Given the description of an element on the screen output the (x, y) to click on. 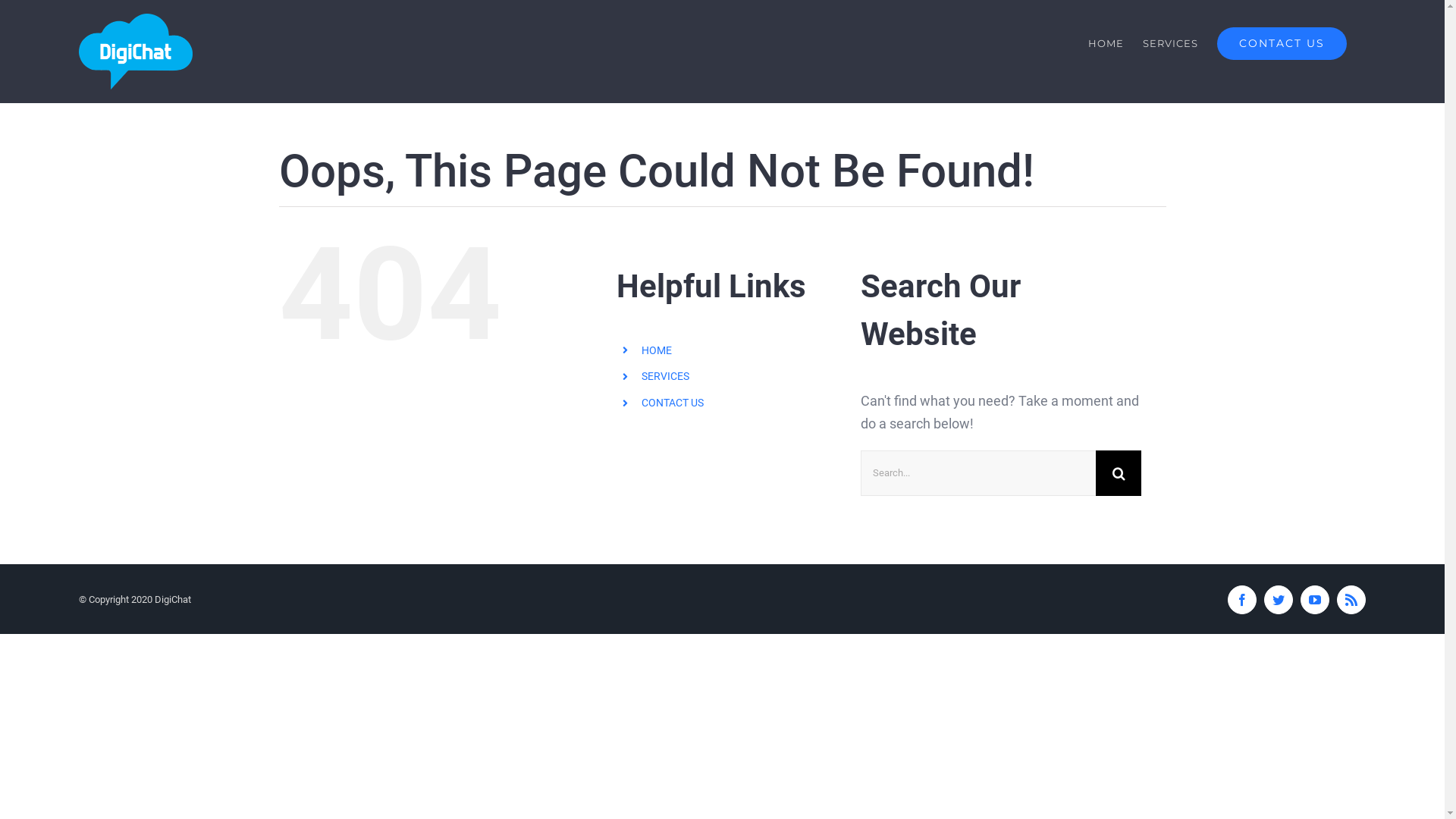
YouTube Element type: text (1314, 599)
CONTACT US Element type: text (1281, 42)
SERVICES Element type: text (665, 376)
HOME Element type: text (1105, 42)
Twitter Element type: text (1278, 599)
HOME Element type: text (656, 350)
Facebook Element type: text (1241, 599)
SERVICES Element type: text (1170, 42)
Rss Element type: text (1350, 599)
CONTACT US Element type: text (672, 402)
